Given the description of an element on the screen output the (x, y) to click on. 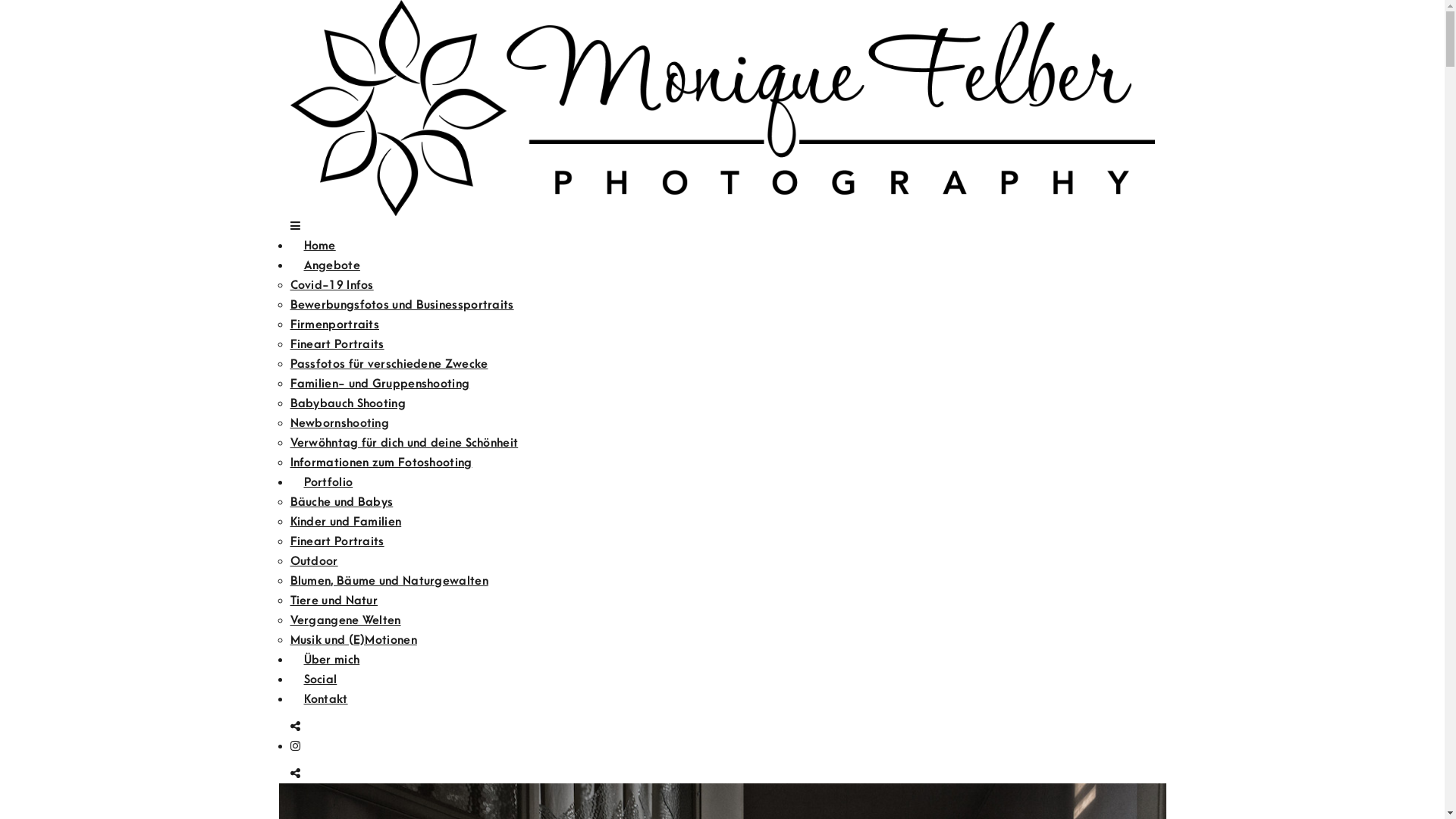
Kontakt Element type: text (325, 699)
Angebote Element type: text (331, 265)
Fineart Portraits Element type: text (336, 541)
Fineart Portraits Element type: text (336, 344)
Kinder und Familien Element type: text (345, 521)
Bewerbungsfotos und Businessportraits Element type: text (401, 304)
Babybauch Shooting Element type: text (346, 403)
Portfolio Element type: text (327, 482)
Vergangene Welten Element type: text (344, 620)
Tiere und Natur Element type: text (333, 600)
Firmenportraits Element type: text (334, 324)
Newbornshooting Element type: text (339, 422)
Musik und (E)Motionen Element type: text (352, 639)
Social Element type: text (319, 679)
Home Element type: text (319, 245)
Familien- und Gruppenshooting Element type: text (379, 383)
Informationen zum Fotoshooting Element type: text (380, 462)
Covid-19 Infos Element type: text (331, 284)
Outdoor Element type: text (313, 560)
